Given the description of an element on the screen output the (x, y) to click on. 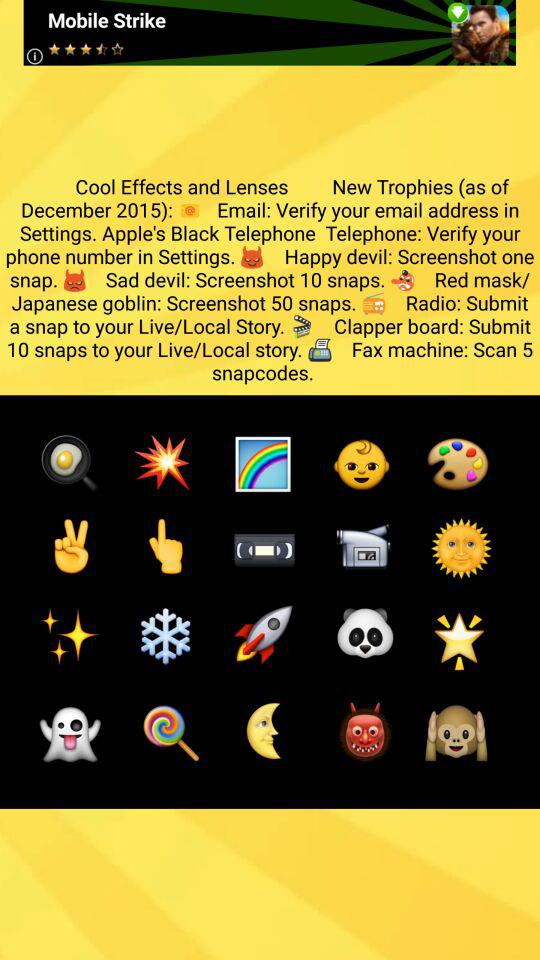
clickable advertisement (269, 32)
